Given the description of an element on the screen output the (x, y) to click on. 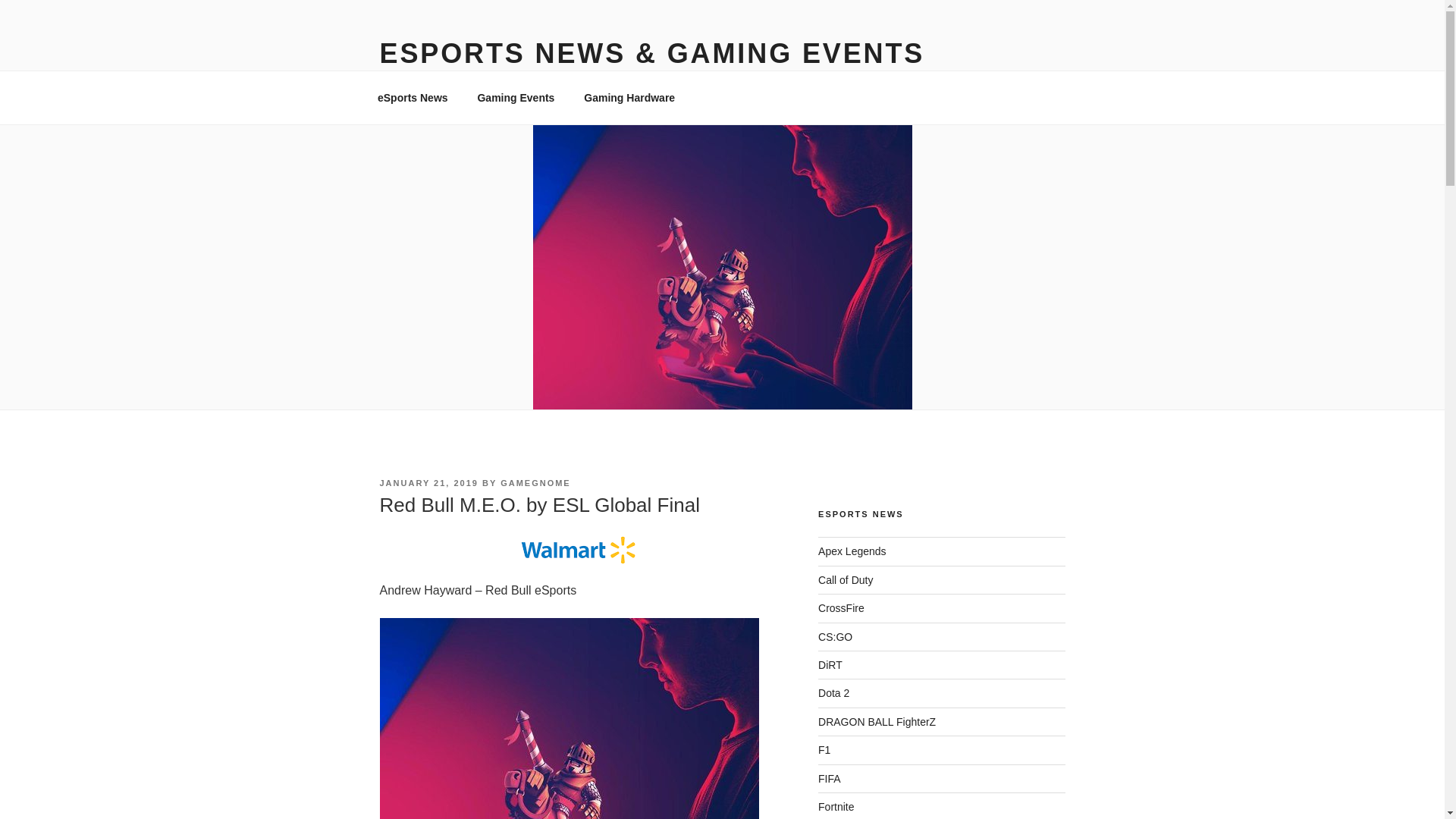
CS:GO (834, 636)
eSports News (412, 97)
Apex Legends (852, 551)
GAMEGNOME (535, 482)
CrossFire (841, 607)
JANUARY 21, 2019 (427, 482)
Gaming Hardware (629, 97)
Call of Duty (845, 580)
Gaming Events (515, 97)
